Given the description of an element on the screen output the (x, y) to click on. 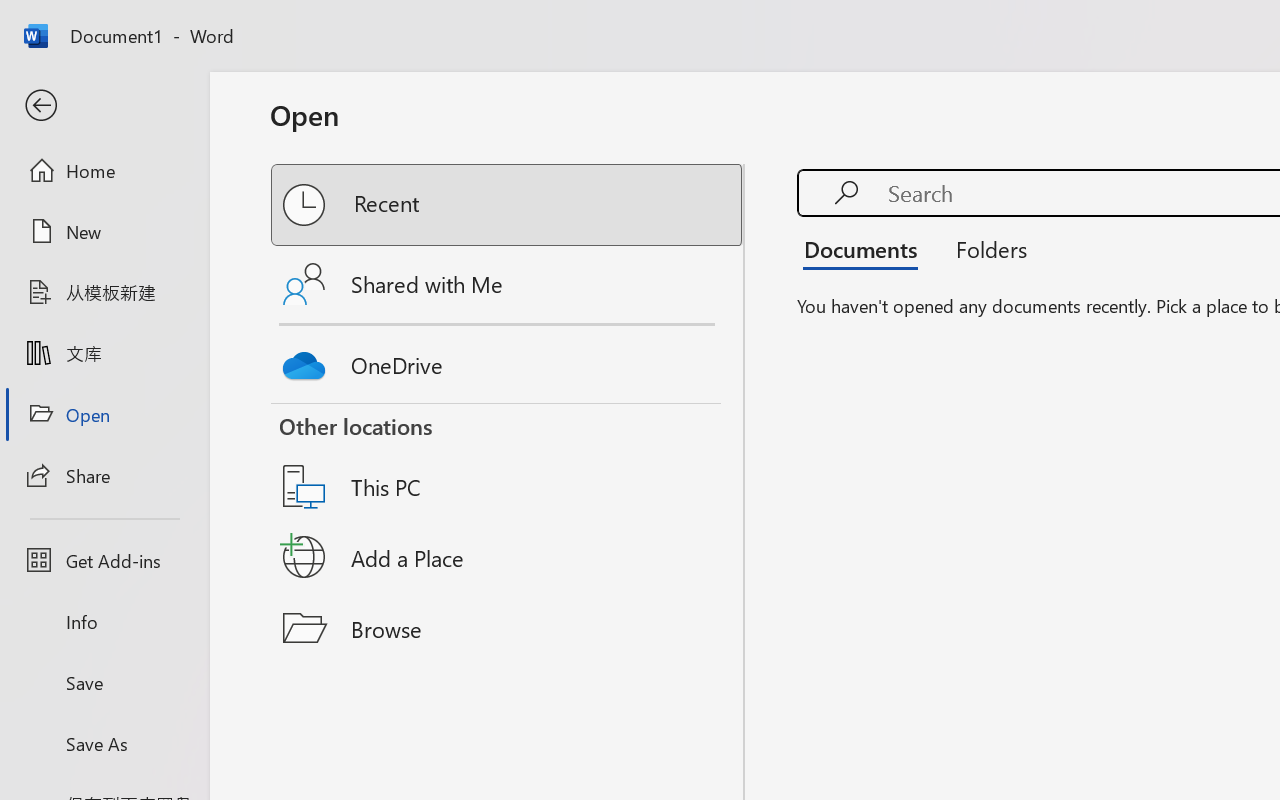
Back (104, 106)
Documents (866, 248)
This PC (507, 461)
OneDrive (507, 359)
